Given the description of an element on the screen output the (x, y) to click on. 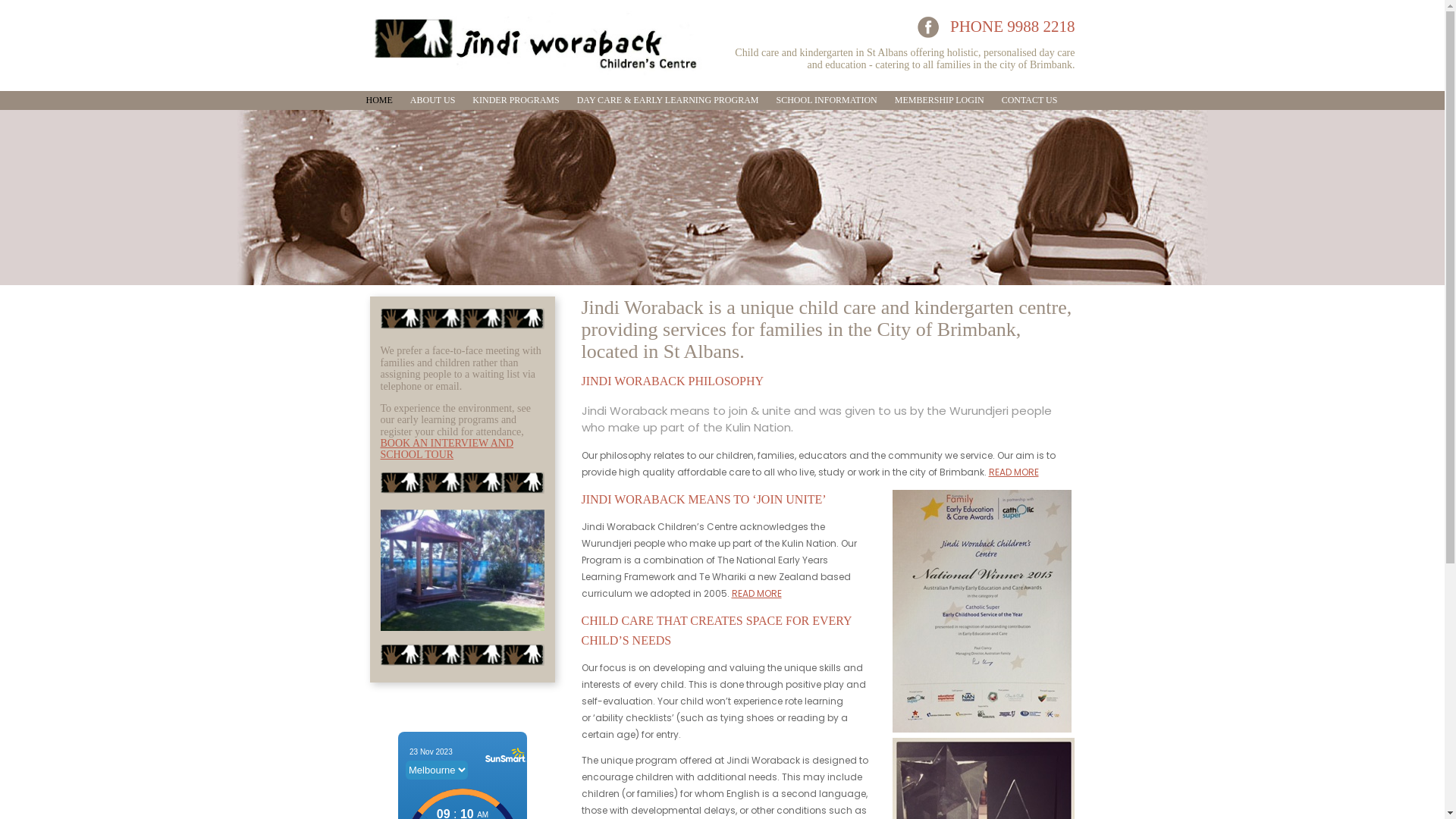
MEMBERSHIP LOGIN Element type: text (939, 100)
READ MORE Element type: text (1013, 471)
DAY CARE & EARLY LEARNING PROGRAM Element type: text (667, 100)
BOOK AN INTERVIEW AND SCHOOL TOUR Element type: text (447, 448)
HOME Element type: text (378, 100)
CONTACT US Element type: text (1029, 100)
SCHOOL INFORMATION Element type: text (826, 100)
READ MORE Element type: text (756, 592)
PHONE 9988 2218 Element type: text (1012, 26)
ABOUT US Element type: text (432, 100)
KINDER PROGRAMS Element type: text (515, 100)
